Given the description of an element on the screen output the (x, y) to click on. 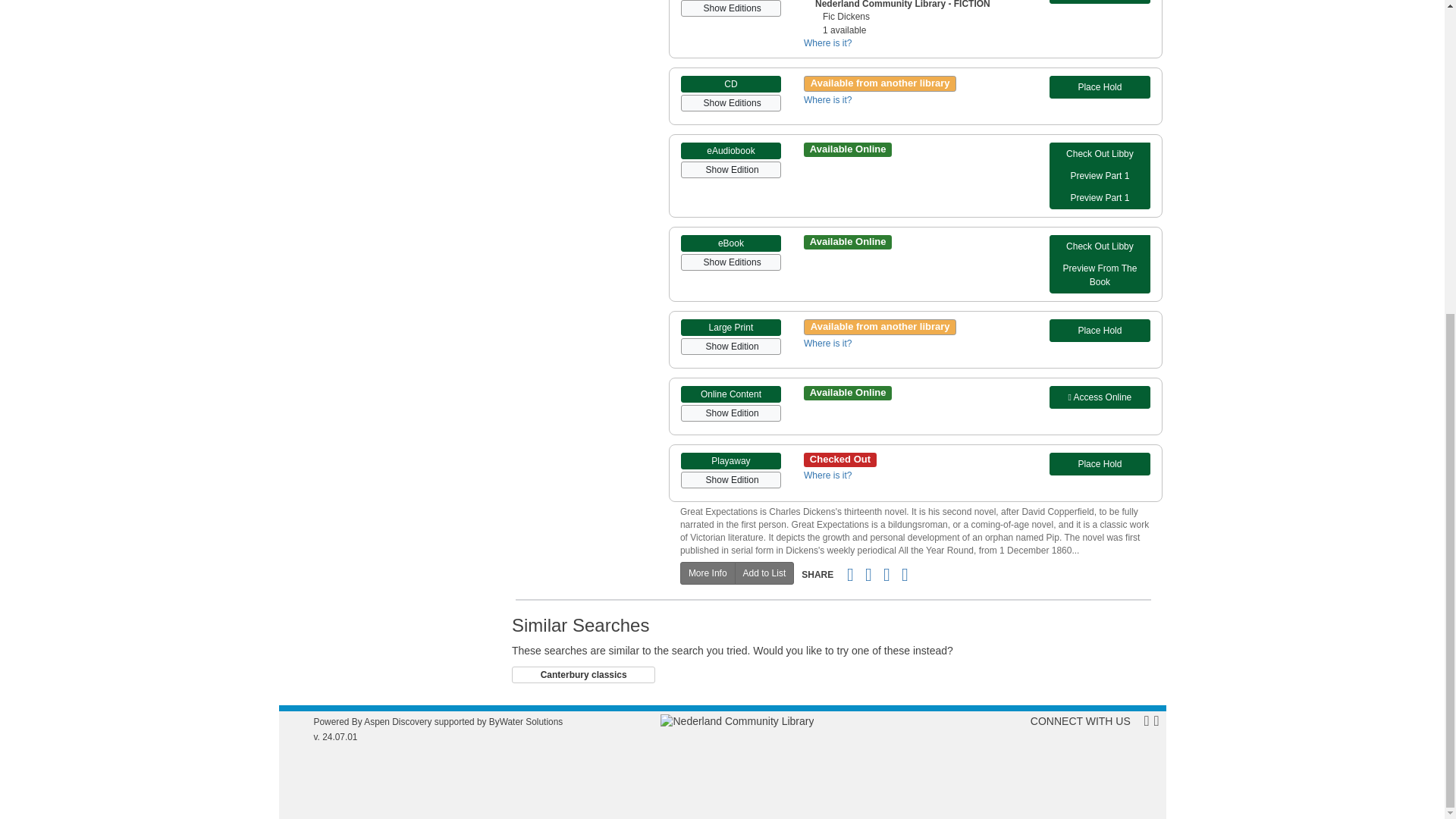
Available online from Web Content (1099, 396)
